Given the description of an element on the screen output the (x, y) to click on. 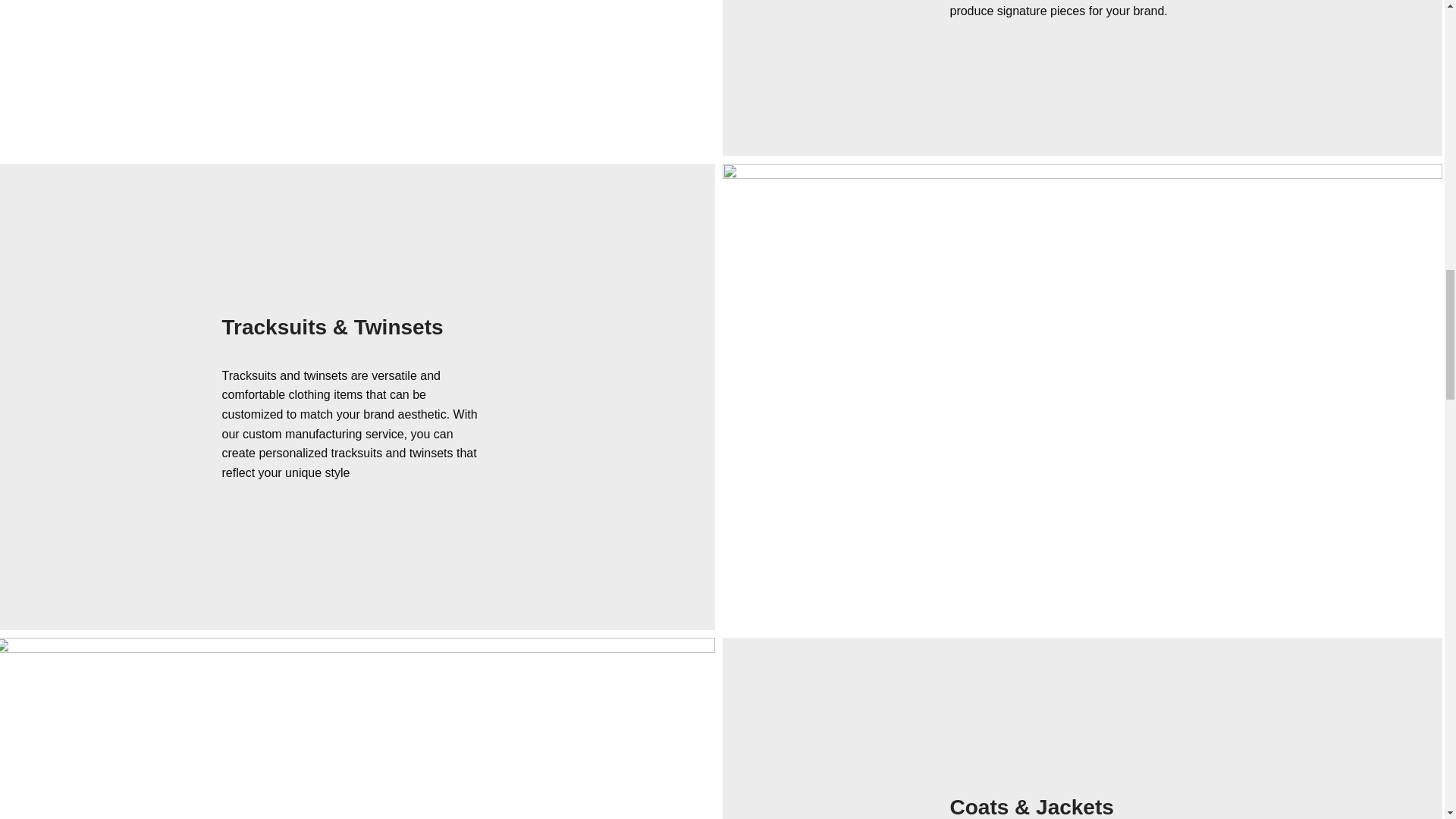
2 (357, 78)
4 (357, 728)
